Given the description of an element on the screen output the (x, y) to click on. 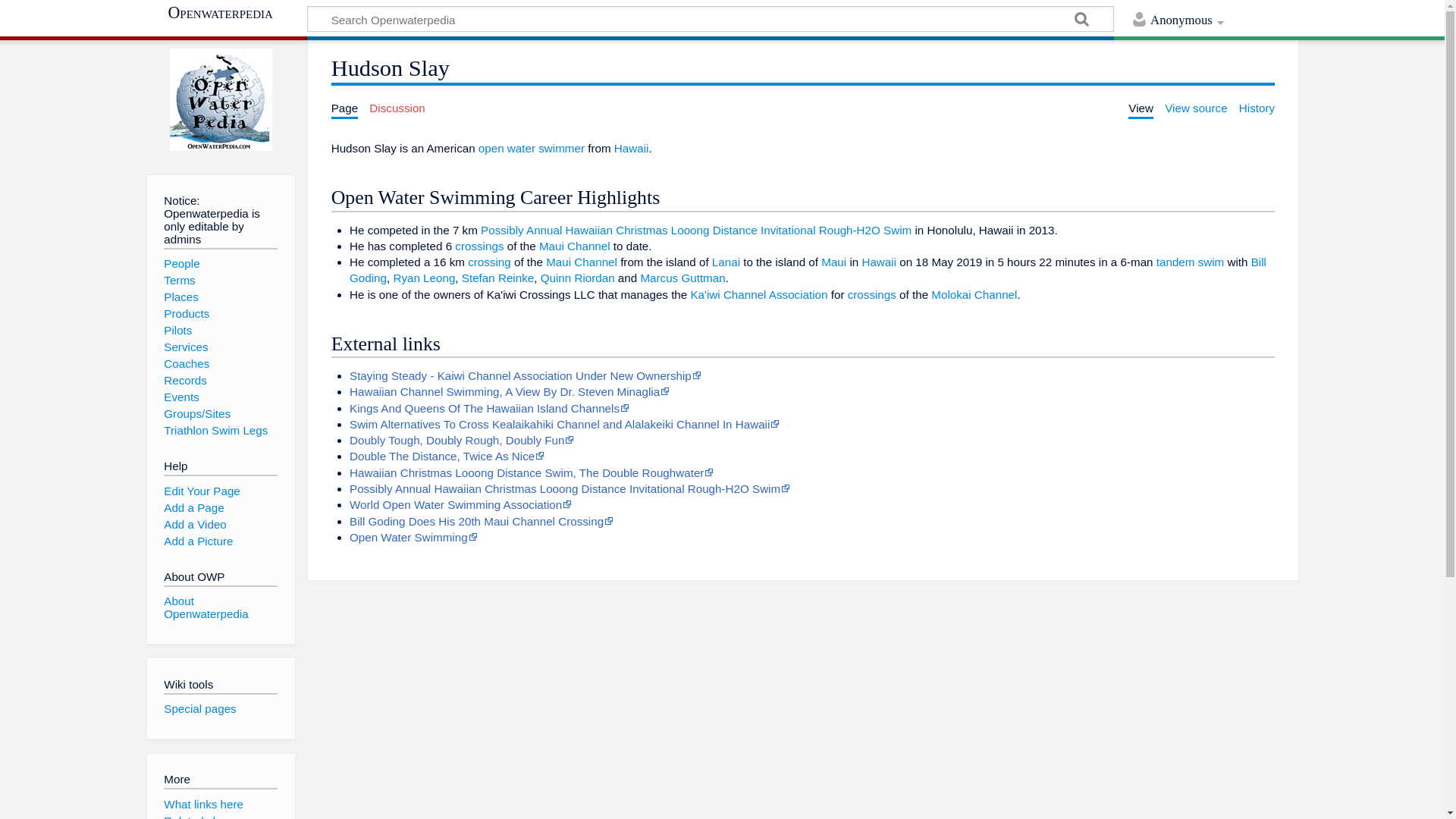
Molokai Channel (973, 294)
Ka'iwi Channel Association (758, 294)
View source (1195, 107)
Open Water Swimming (413, 536)
tandem swim (1190, 261)
Crossing (489, 261)
Hawaii (878, 261)
Go to a page with this exact name if it exists (1081, 21)
Kings And Queens Of The Hawaiian Island Channels (488, 408)
Double The Distance, Twice As Nice (446, 455)
crossing (489, 261)
Openwaterpedia (226, 12)
History (1257, 107)
Discussion (397, 107)
